Given the description of an element on the screen output the (x, y) to click on. 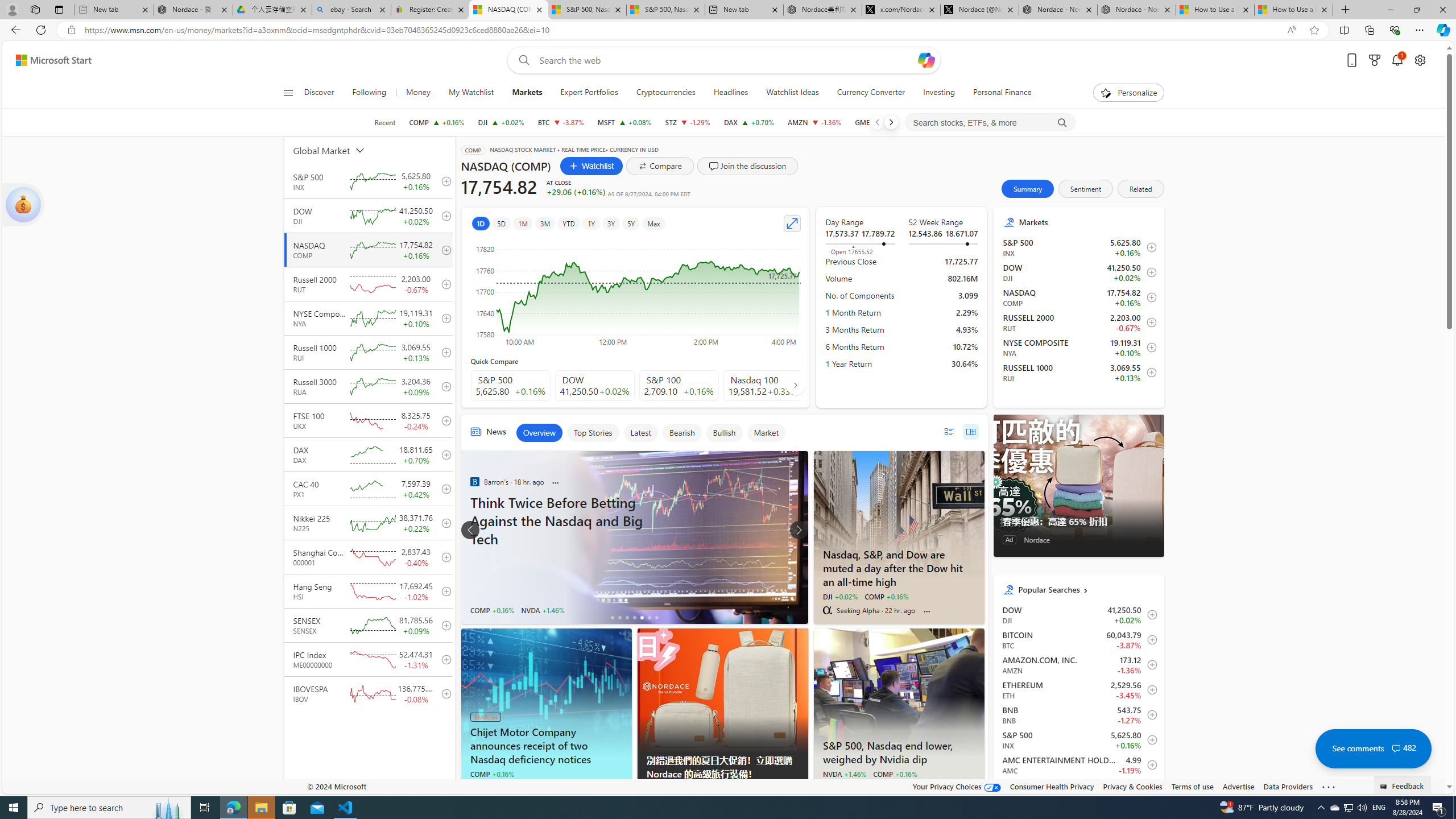
Bullish (724, 432)
Global Market (341, 150)
Expert Portfolios (589, 92)
Latest (640, 432)
Skip to content (49, 59)
Terms of use (1192, 786)
DAX DAX increase 18,811.65 +129.84 +0.70% (748, 122)
INX S&P 500 increase 5,625.80 +8.96 +0.16% itemundefined (1078, 739)
